Given the description of an element on the screen output the (x, y) to click on. 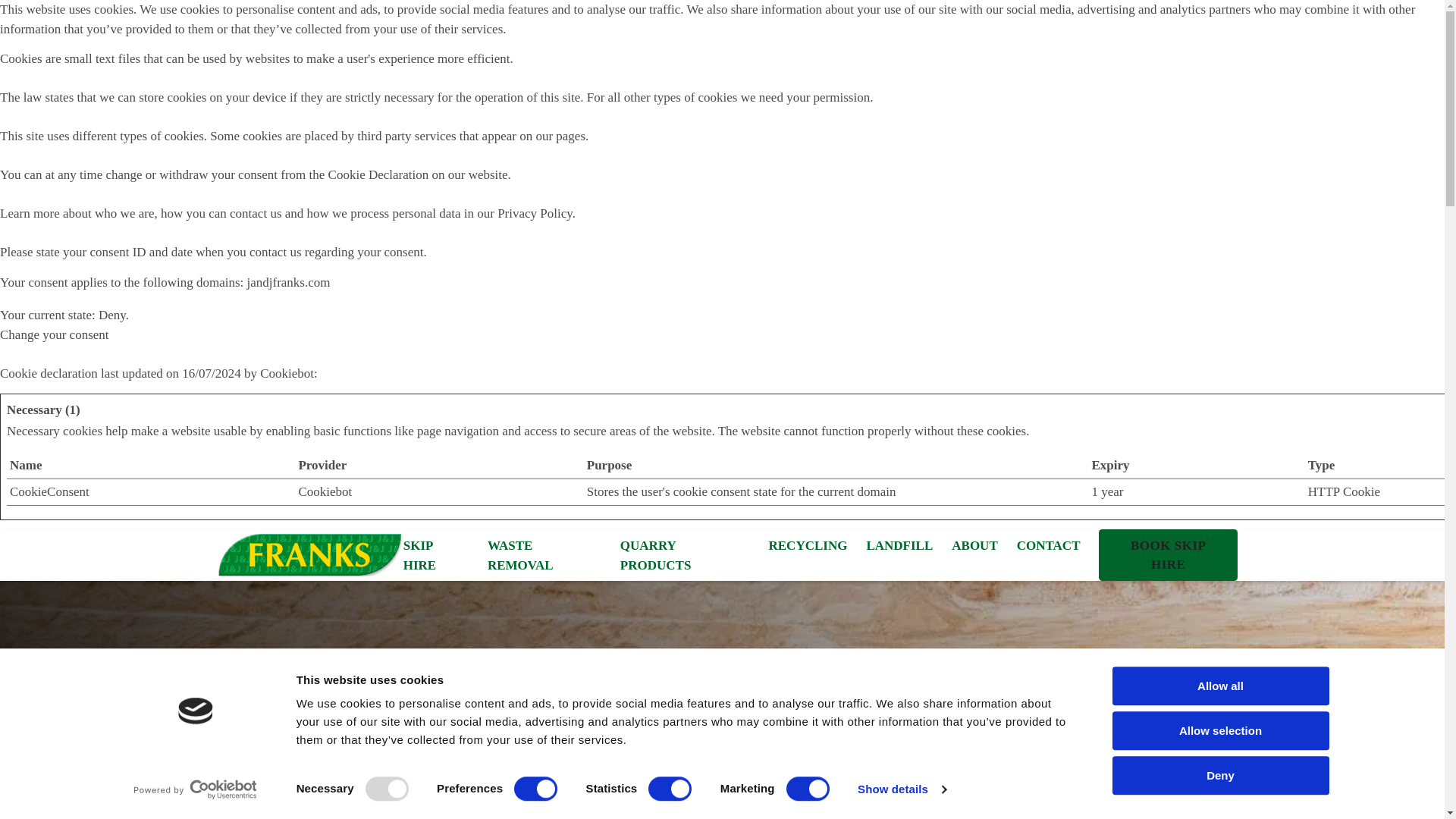
QUARRY PRODUCTS (684, 554)
Cookiebot (325, 490)
ABOUT (974, 545)
WASTE REMOVAL (544, 554)
Cookiebot (287, 372)
LANDFILL (899, 545)
Deny (1219, 774)
Show details (900, 789)
SKIP HIRE (435, 554)
Cookiebot (287, 372)
Allow all (1219, 685)
RECYCLING (807, 545)
Cookiebot's privacy policy (325, 490)
CONTACT (1048, 545)
Change your consent (54, 334)
